Given the description of an element on the screen output the (x, y) to click on. 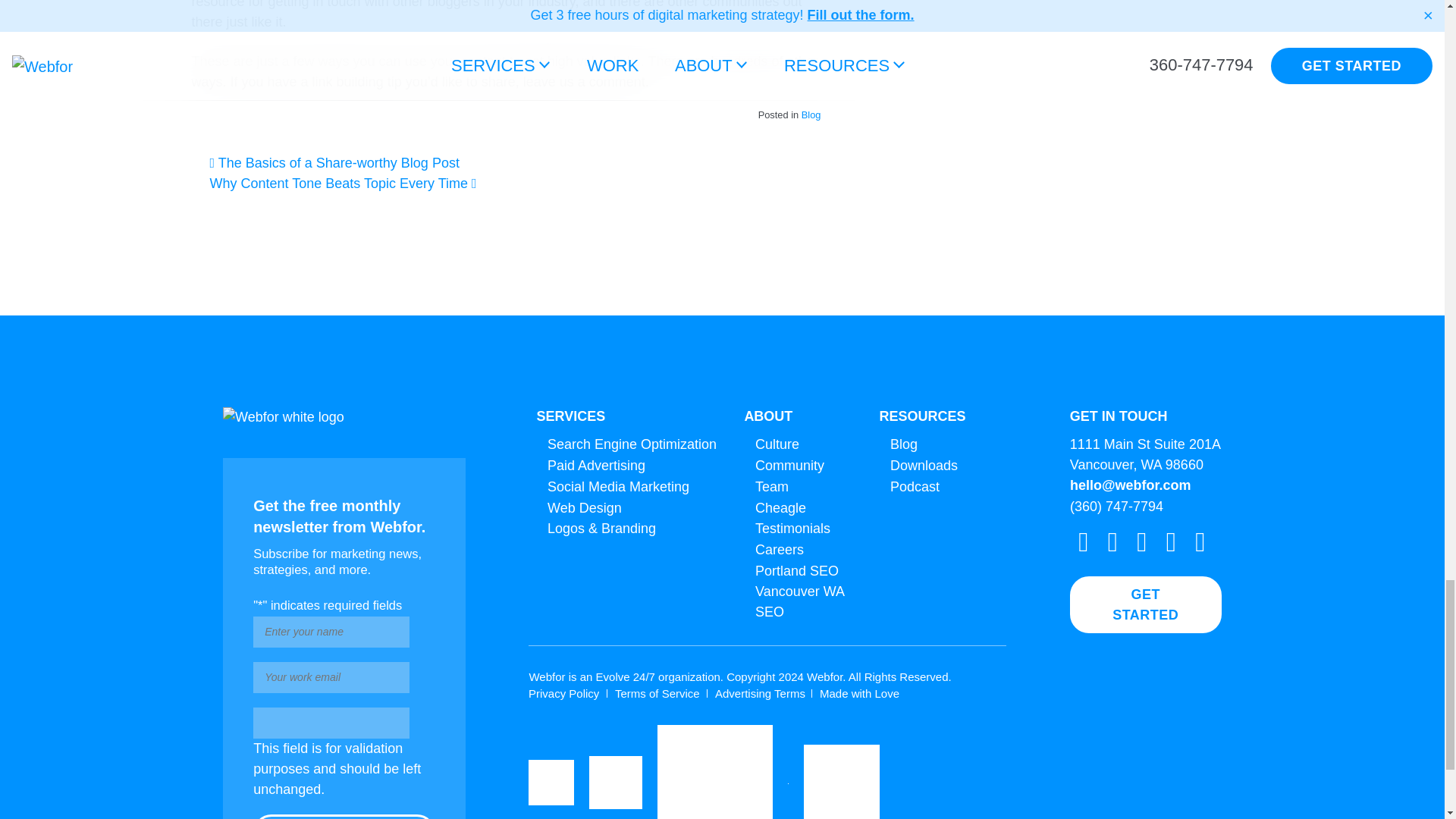
Join The List (344, 816)
